Given the description of an element on the screen output the (x, y) to click on. 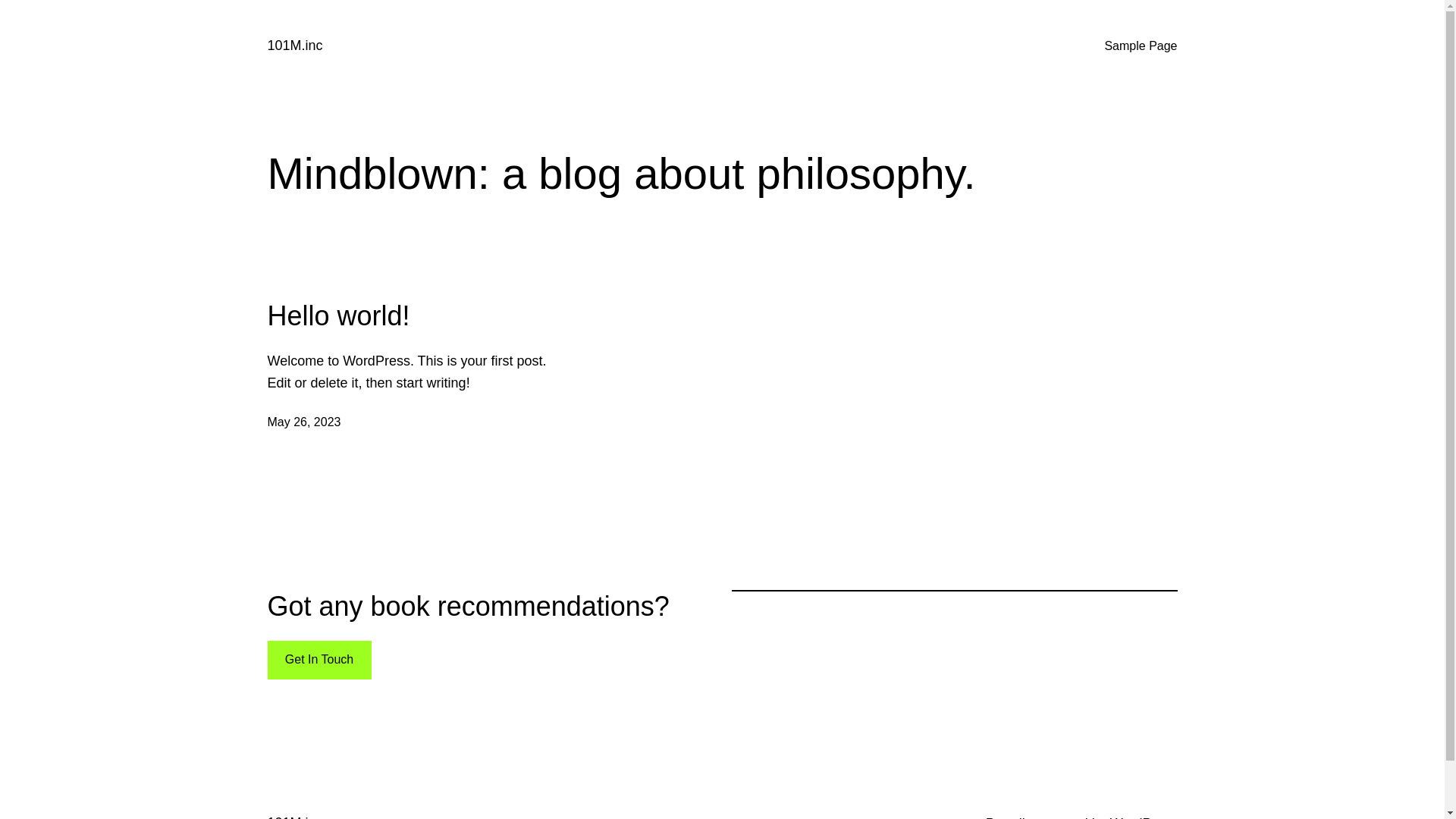
Get In Touch Element type: text (318, 659)
Sample Page Element type: text (1140, 46)
101M.inc Element type: text (294, 45)
May 26, 2023 Element type: text (303, 421)
Hello world! Element type: text (337, 315)
